Given the description of an element on the screen output the (x, y) to click on. 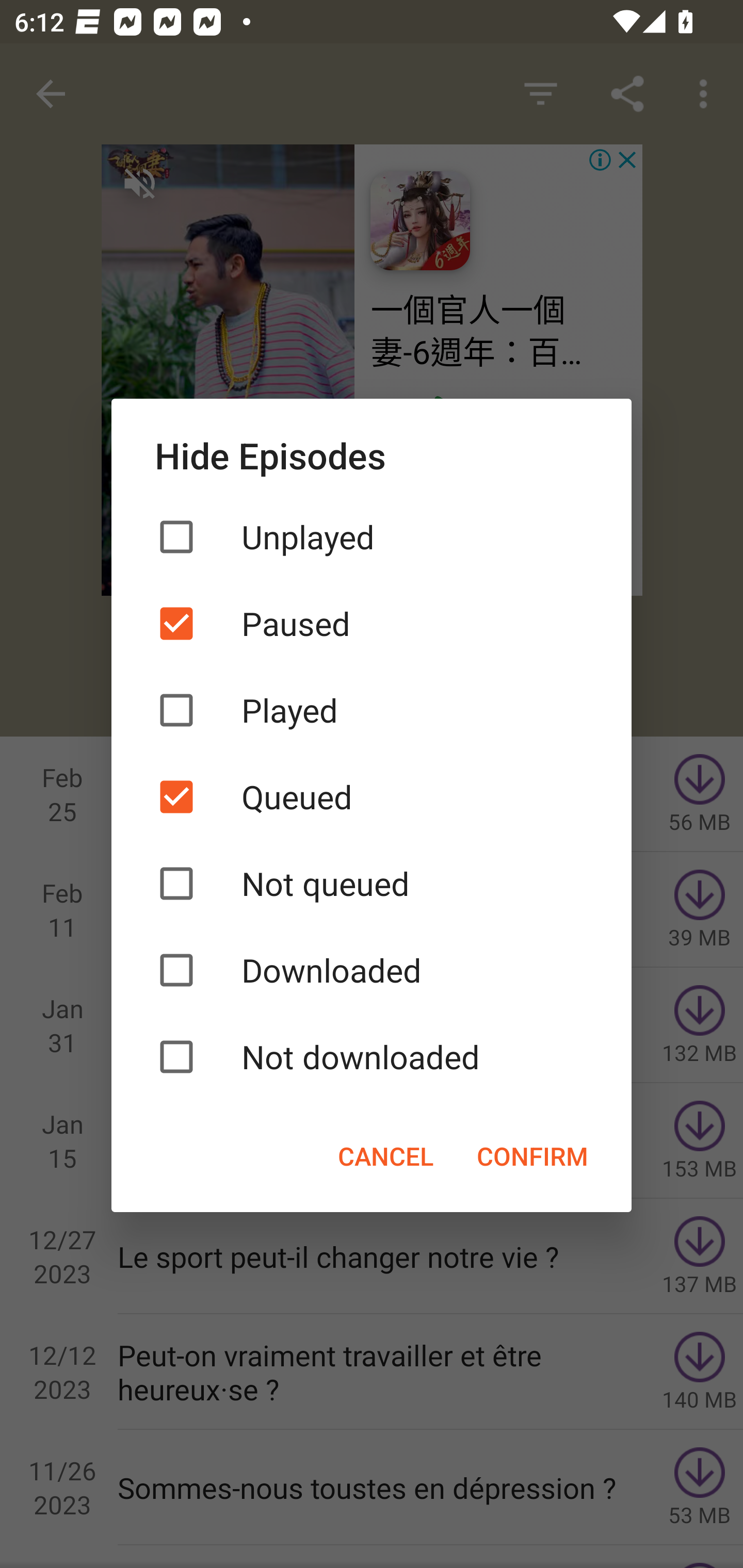
Unplayed (371, 536)
Paused (371, 623)
Played (371, 710)
Queued (371, 797)
Not queued (371, 883)
Downloaded (371, 969)
Not downloaded (371, 1056)
CANCEL (385, 1155)
CONFIRM (532, 1155)
